Given the description of an element on the screen output the (x, y) to click on. 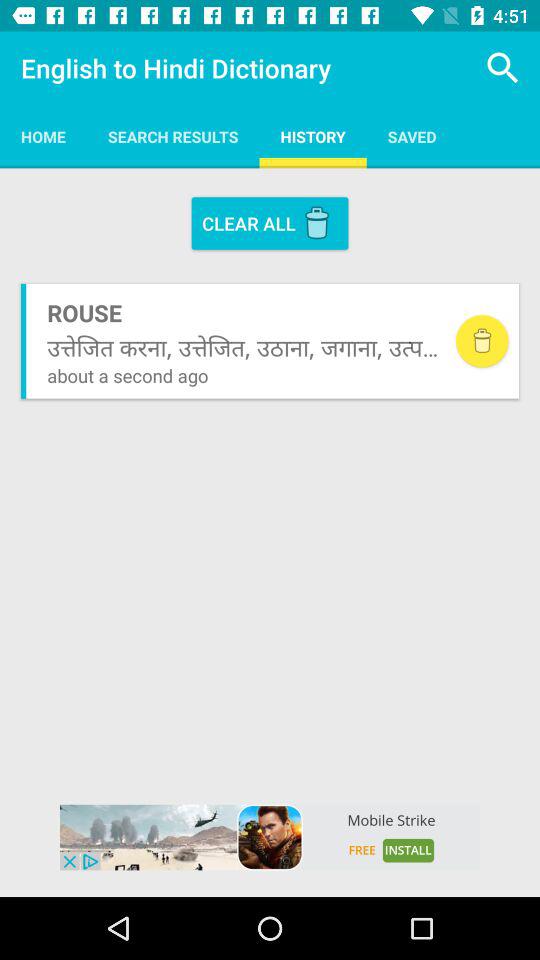
delete message (482, 341)
